Given the description of an element on the screen output the (x, y) to click on. 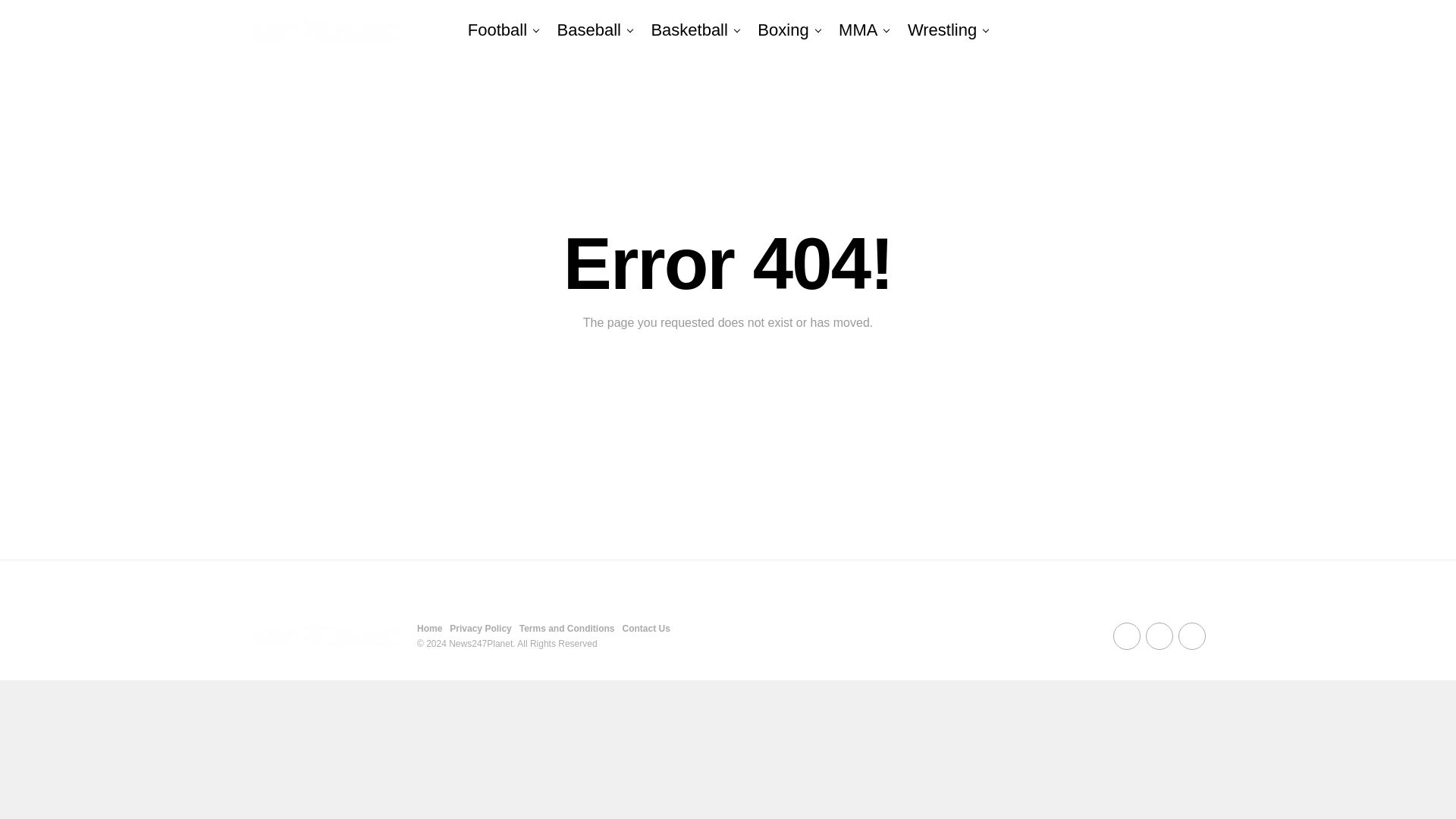
Basketball (689, 30)
Boxing (782, 30)
Football (497, 30)
Baseball (589, 30)
